Given the description of an element on the screen output the (x, y) to click on. 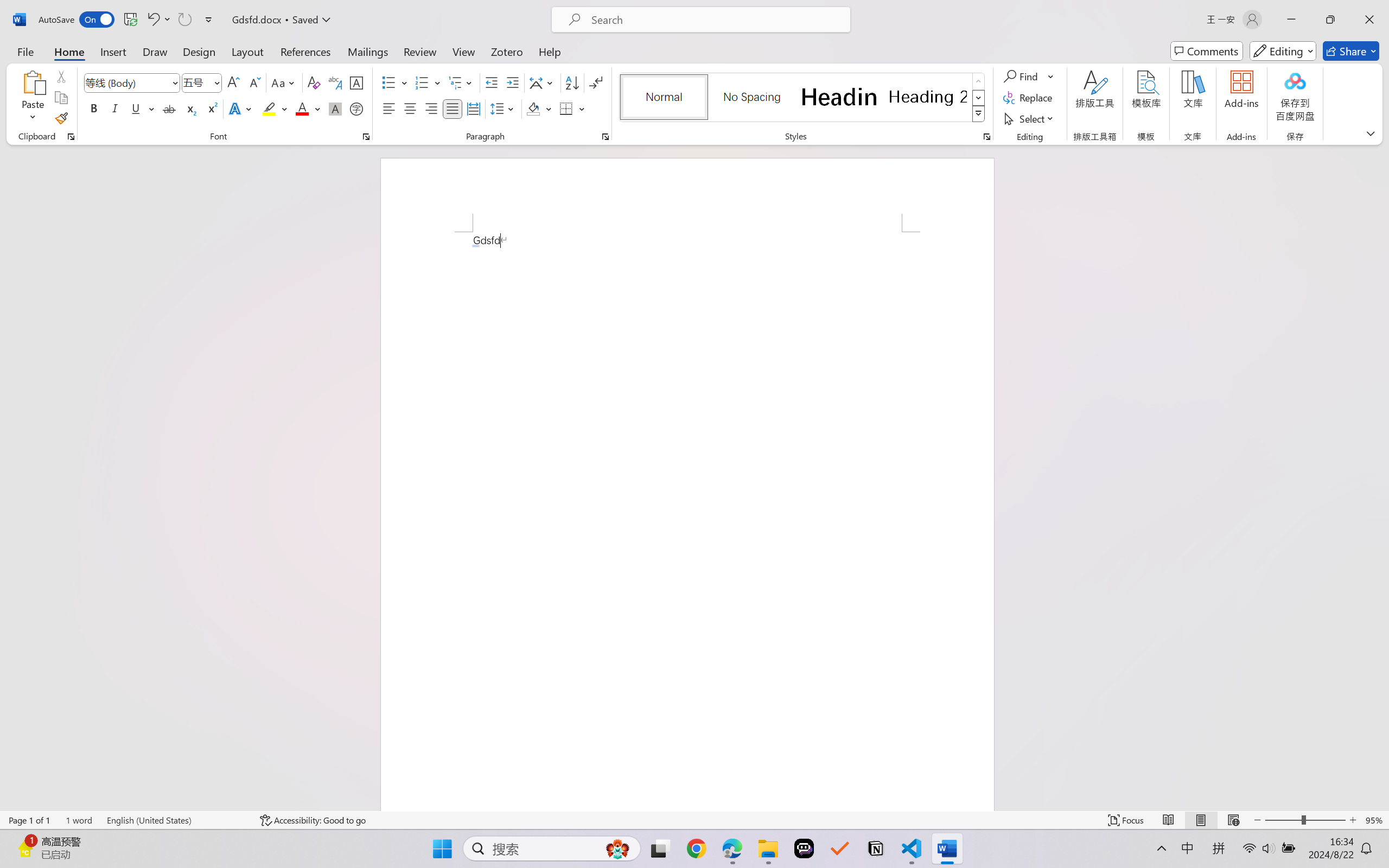
Subscript (190, 108)
Row Down (978, 97)
Change Case (284, 82)
AutomationID: QuickStylesGallery (802, 97)
Office Clipboard... (70, 136)
Open (215, 82)
